Given the description of an element on the screen output the (x, y) to click on. 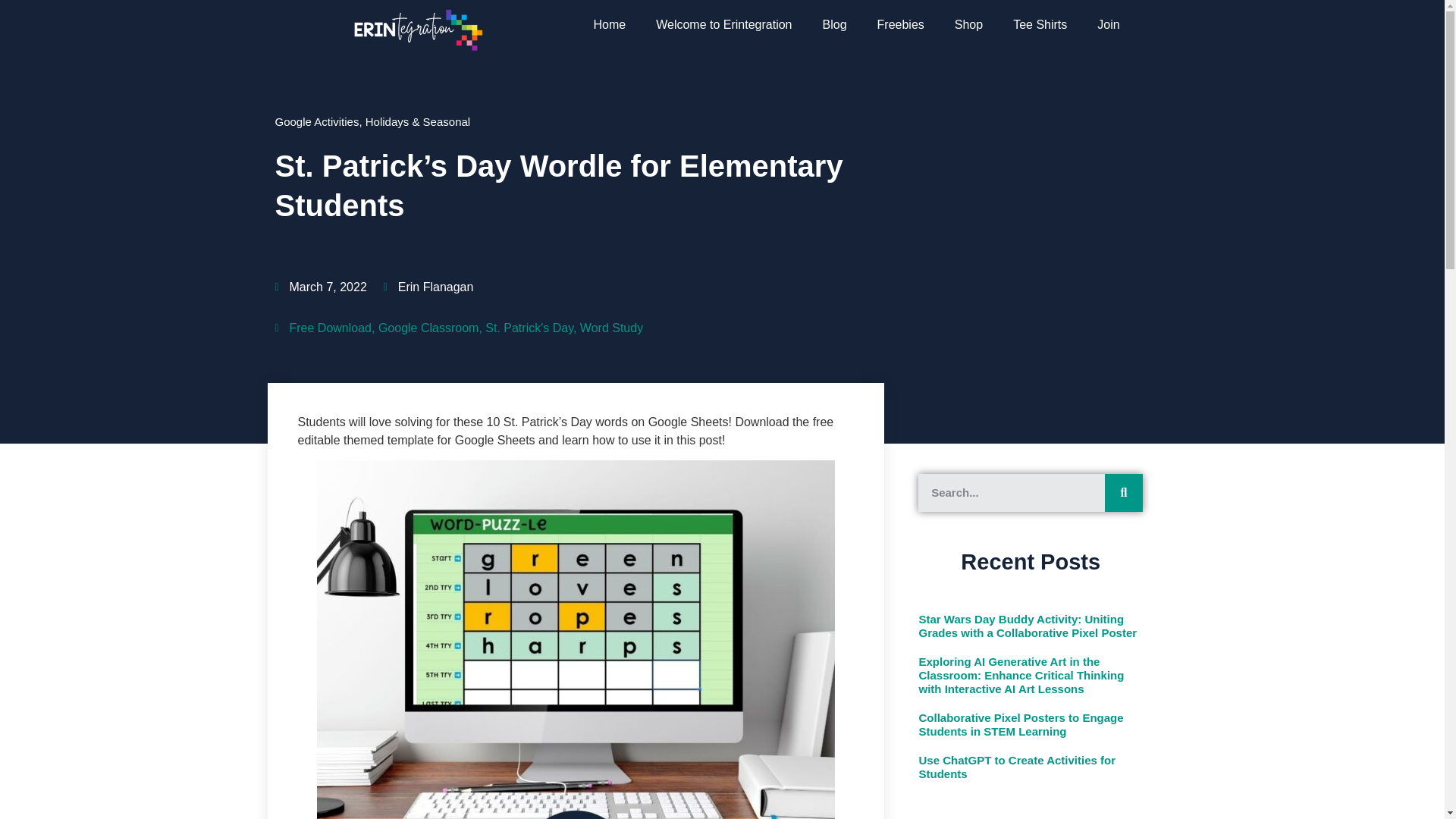
Tee Shirts (1039, 24)
Google Classroom (428, 327)
Free Download (330, 327)
Shop (968, 24)
Google Activities (316, 121)
St. Patrick's Day (528, 327)
Word Study (611, 327)
Welcome to Erintegration (723, 24)
Home (609, 24)
Erin Flanagan (429, 286)
Join (1107, 24)
Use ChatGPT to Create Activities for Students (1016, 766)
